Given the description of an element on the screen output the (x, y) to click on. 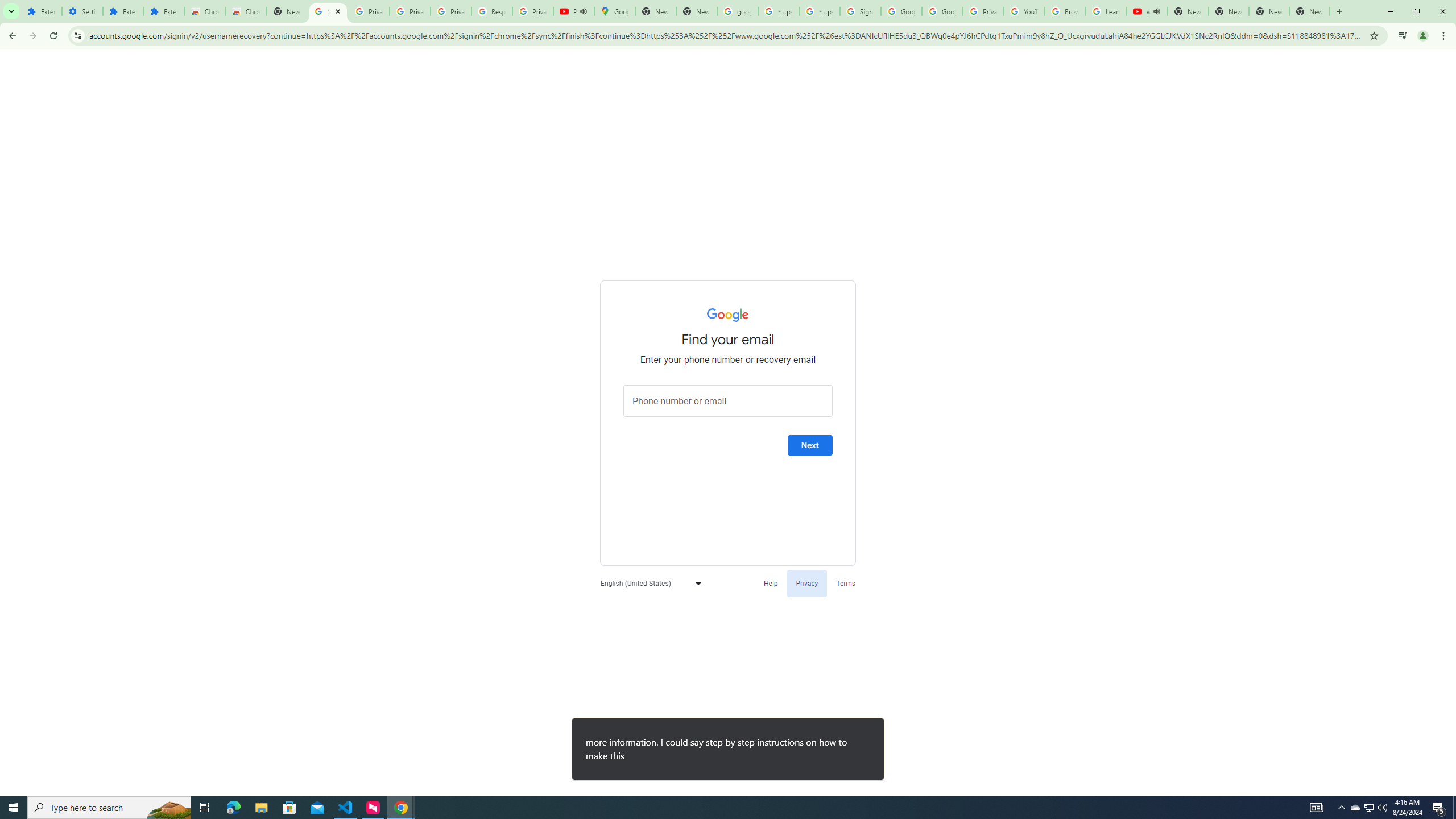
Extensions (41, 11)
https://scholar.google.com/ (818, 11)
Sign in - Google Accounts (860, 11)
